Given the description of an element on the screen output the (x, y) to click on. 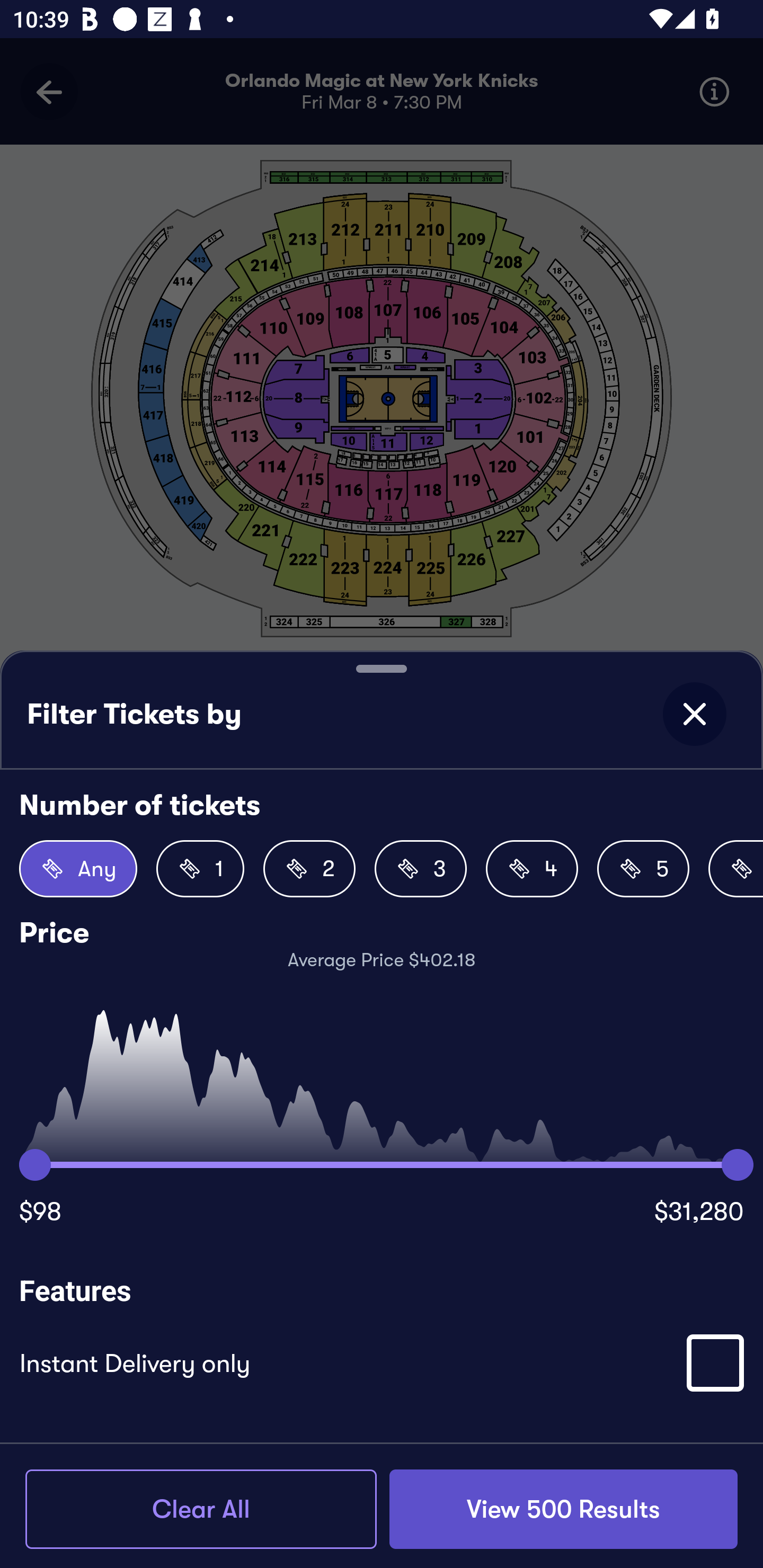
close (694, 714)
Any (78, 868)
1 (200, 868)
2 (309, 868)
3 (420, 868)
4 (532, 868)
5 (642, 868)
Clear All (200, 1509)
View 500 Results (563, 1509)
